Given the description of an element on the screen output the (x, y) to click on. 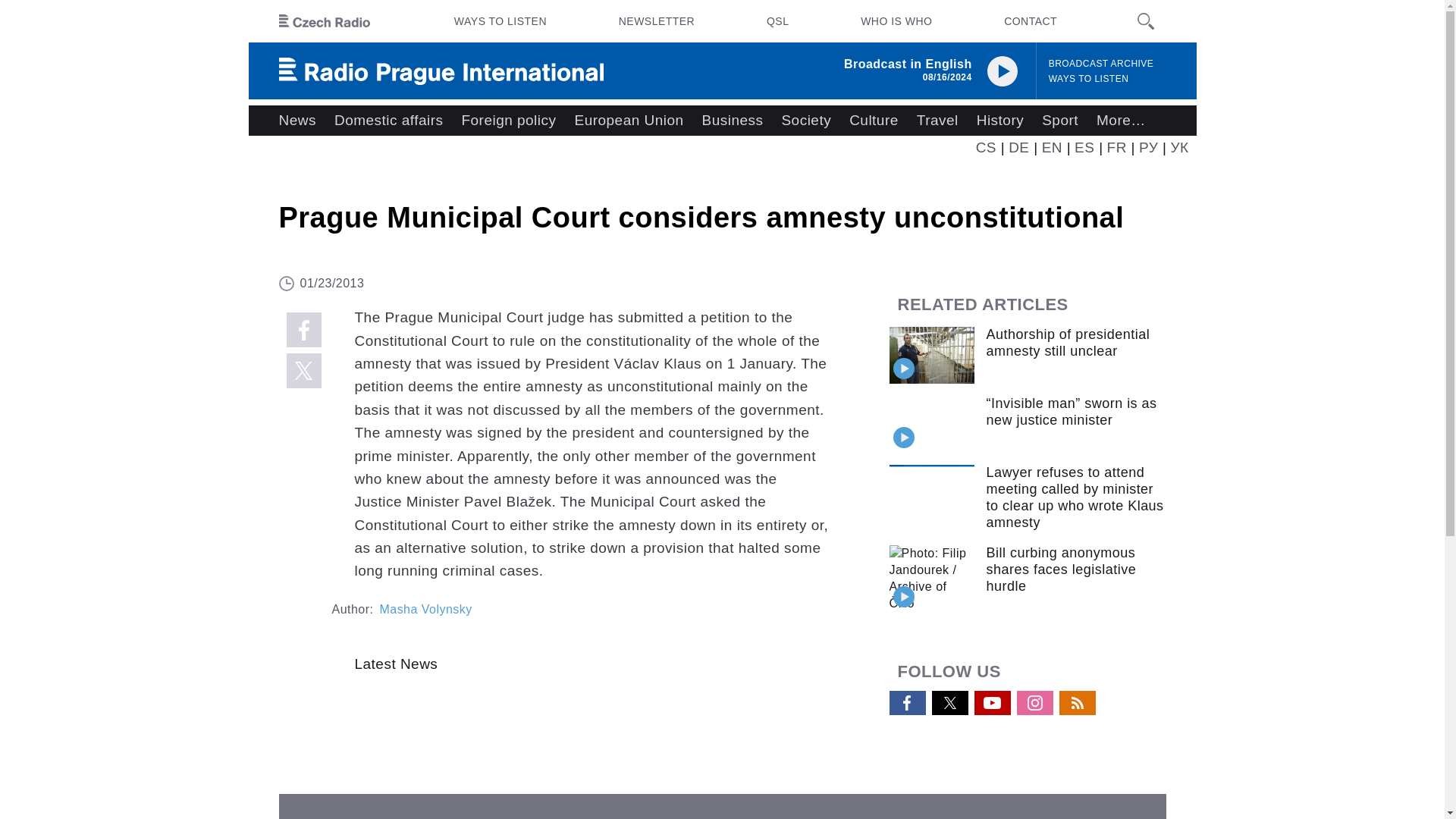
WHO IS WHO (896, 21)
WAYS TO LISTEN (1088, 78)
QSL (777, 21)
WAYS TO LISTEN (500, 21)
Sport (1059, 120)
Travel (937, 120)
ES (1084, 147)
CS (985, 147)
News (296, 120)
Business (733, 120)
